Given the description of an element on the screen output the (x, y) to click on. 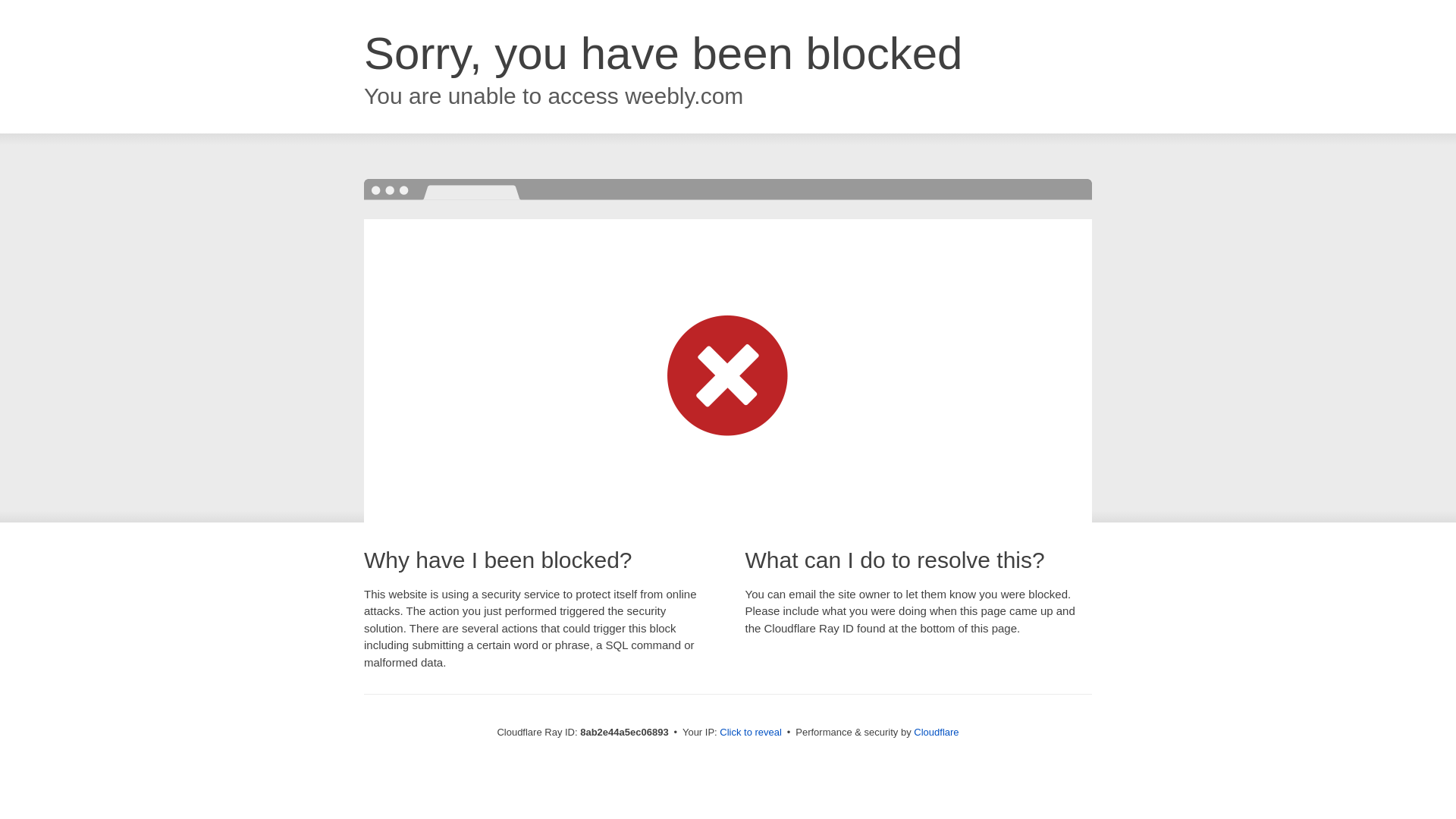
Click to reveal (750, 732)
Cloudflare (936, 731)
